Given the description of an element on the screen output the (x, y) to click on. 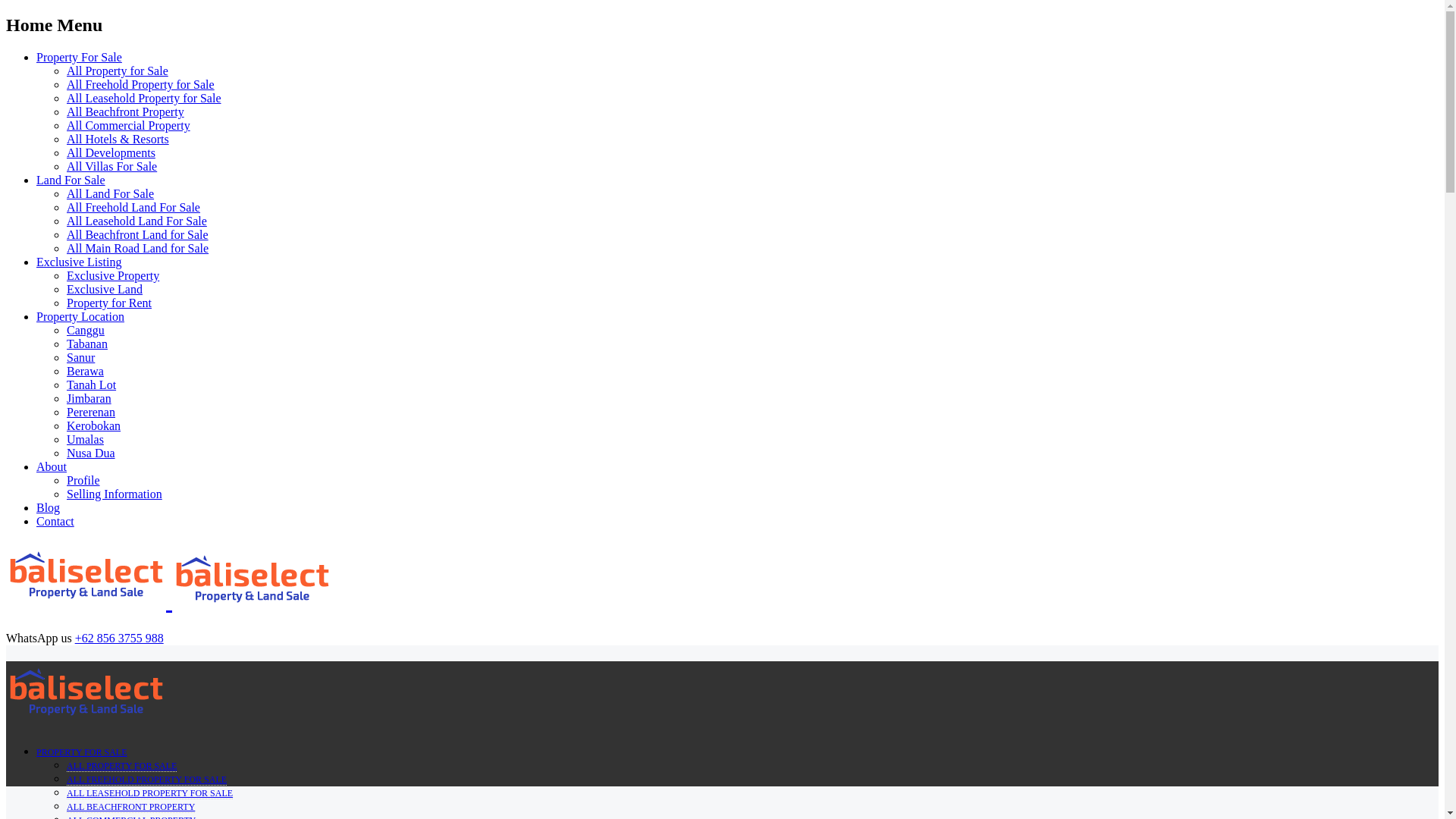
Umalas (84, 439)
Bali Beachfront Property (125, 111)
Commercial Property in Bali (128, 124)
Kerobokan (93, 425)
Jimbaran (89, 398)
All Property for Sale (117, 70)
All Leasehold Property for Sale (143, 97)
PROPERTY FOR SALE (82, 751)
All Main Road Land for Sale (137, 247)
Property For Sale (79, 56)
